Given the description of an element on the screen output the (x, y) to click on. 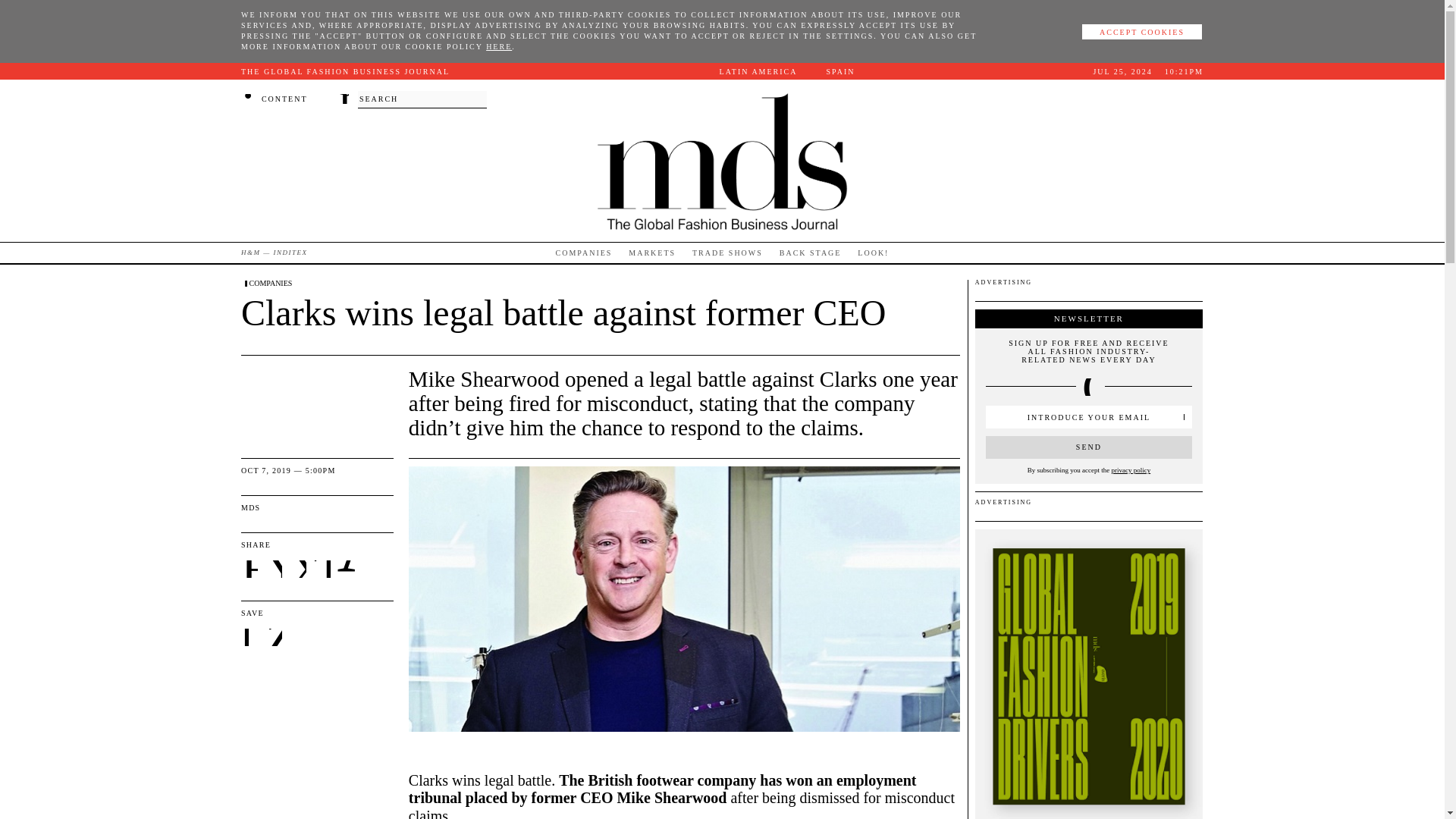
LATIN AMERICA (759, 71)
; CONTENT (273, 99)
TRADE SHOWS (727, 252)
E (250, 569)
BACK STAGE (809, 252)
COMPANIES (584, 252)
MARKETS (651, 252)
h COMPANIES (266, 283)
LOOK! (872, 252)
Z (273, 637)
T (323, 569)
ACCEPT COOKIES (1141, 31)
privacy policy (1130, 470)
SEND (1088, 446)
A (346, 569)
